Given the description of an element on the screen output the (x, y) to click on. 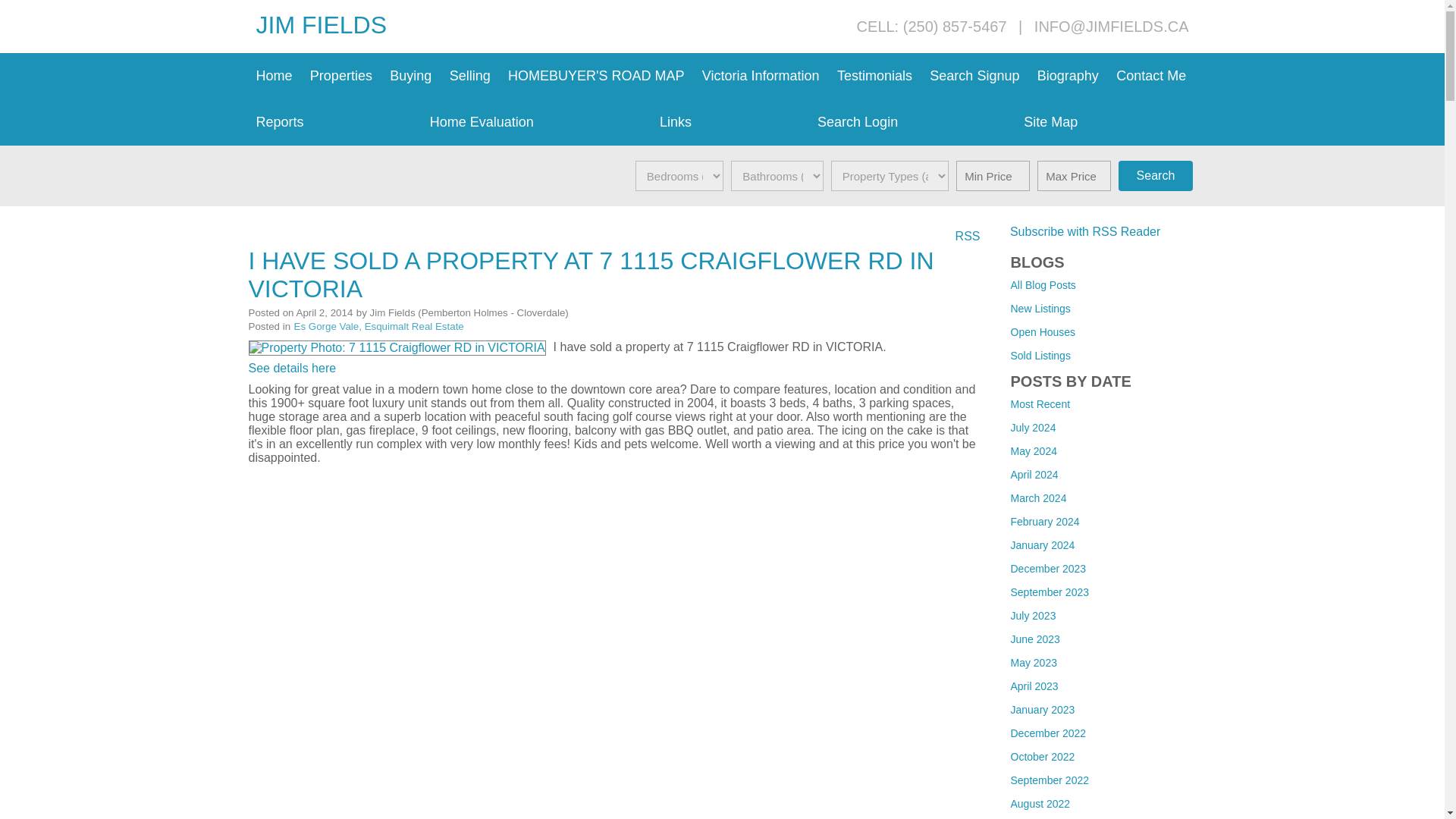
September 2023 (1049, 592)
Sold Listings (1040, 355)
Contact Me (1151, 76)
September 2022 (1049, 779)
January 2023 (1042, 709)
July 2024 (1032, 427)
Victoria Information (761, 76)
Home Evaluation (537, 122)
All Blog Posts (1042, 285)
Buying (411, 76)
April 2024 (1034, 474)
Reports (335, 122)
Biography (1068, 76)
December 2023 (1048, 568)
Most Recent (1040, 404)
